Given the description of an element on the screen output the (x, y) to click on. 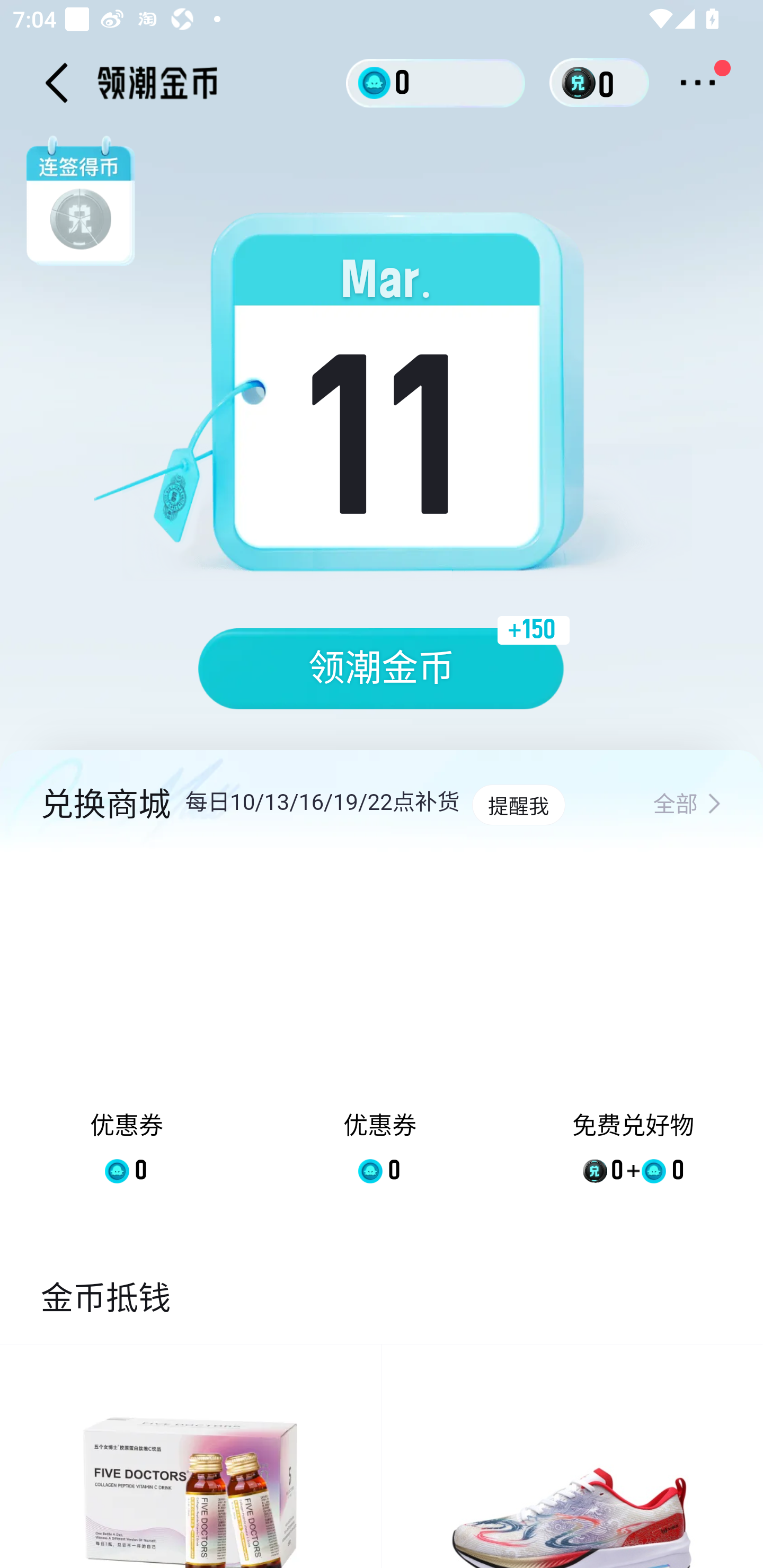
0 (435, 82)
format,webp 0 (581, 83)
领潮金币 + 150 (381, 668)
提醒我 (518, 805)
全部 (687, 804)
优惠券 0 (127, 1031)
优惠券 0 (379, 1031)
免费兑好物 0 0 (633, 1031)
